Given the description of an element on the screen output the (x, y) to click on. 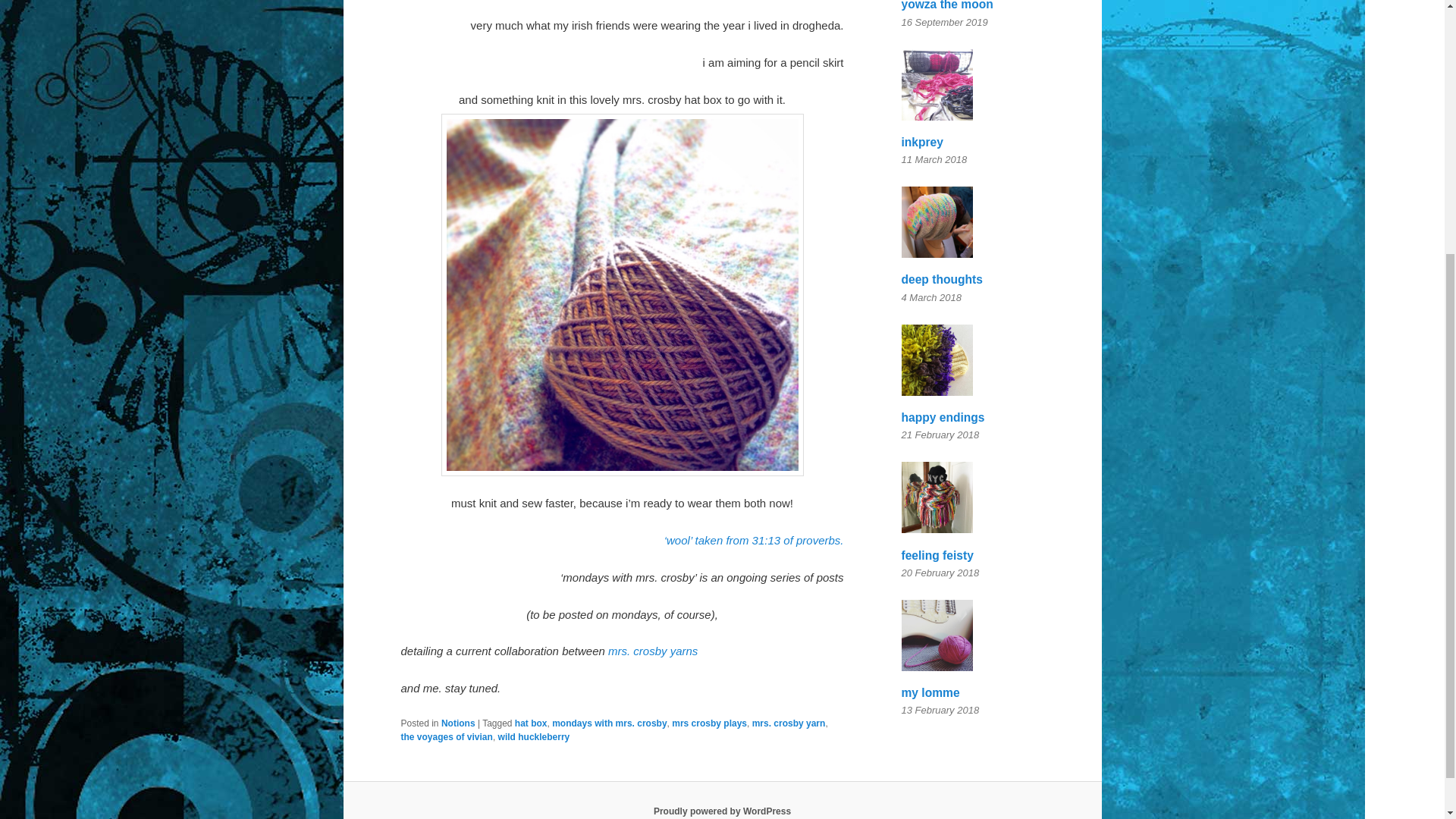
mrs crosby plays (708, 723)
mrs. crosby yarns (652, 650)
mrs. crosby yarn (788, 723)
yowza the moon (946, 6)
Proudly powered by WordPress (721, 810)
the voyages of vivian (446, 737)
hat box (531, 723)
Semantic Personal Publishing Platform (721, 810)
Notions (458, 723)
my lomme (930, 692)
